Given the description of an element on the screen output the (x, y) to click on. 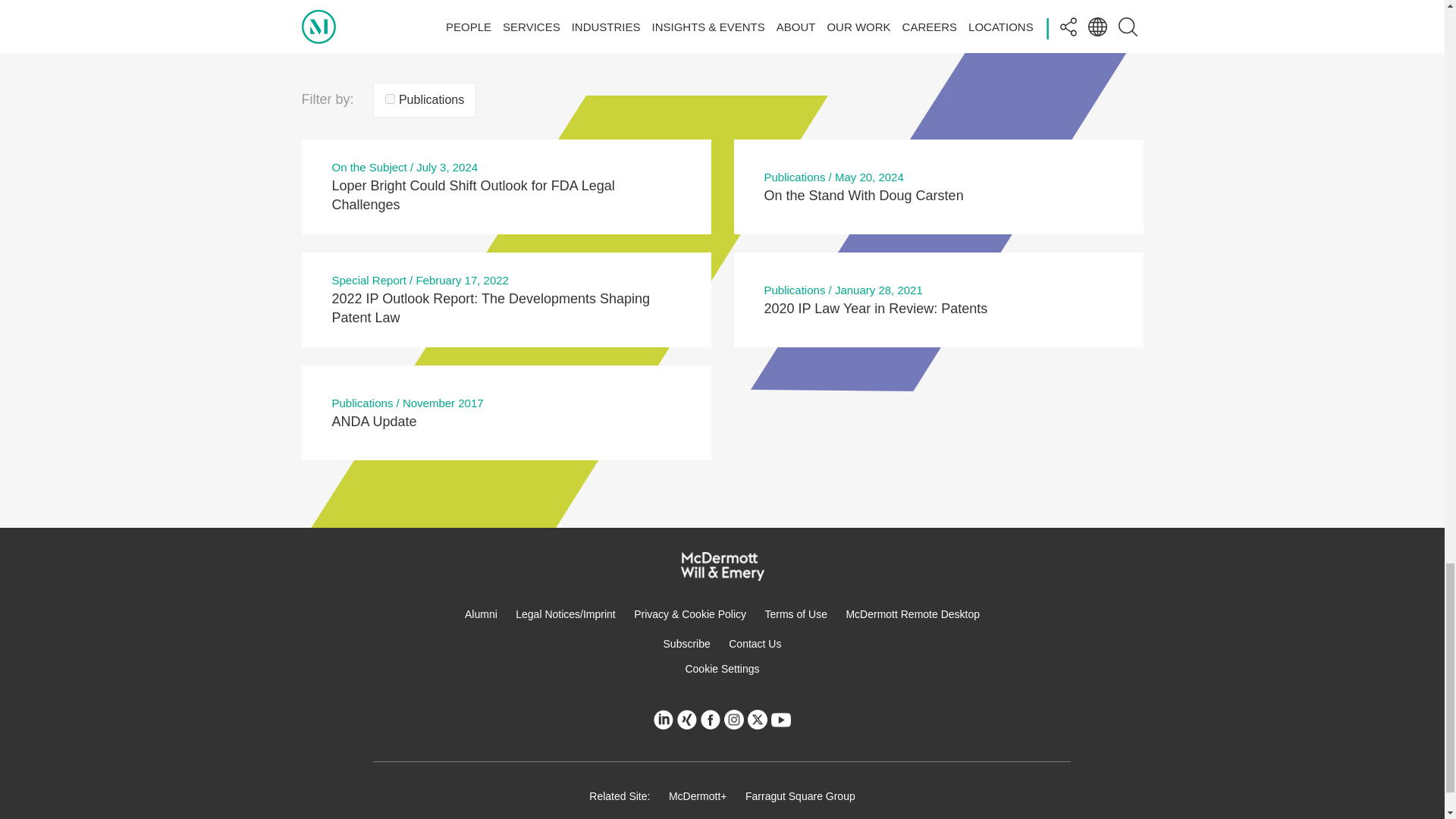
277 (389, 99)
